Given the description of an element on the screen output the (x, y) to click on. 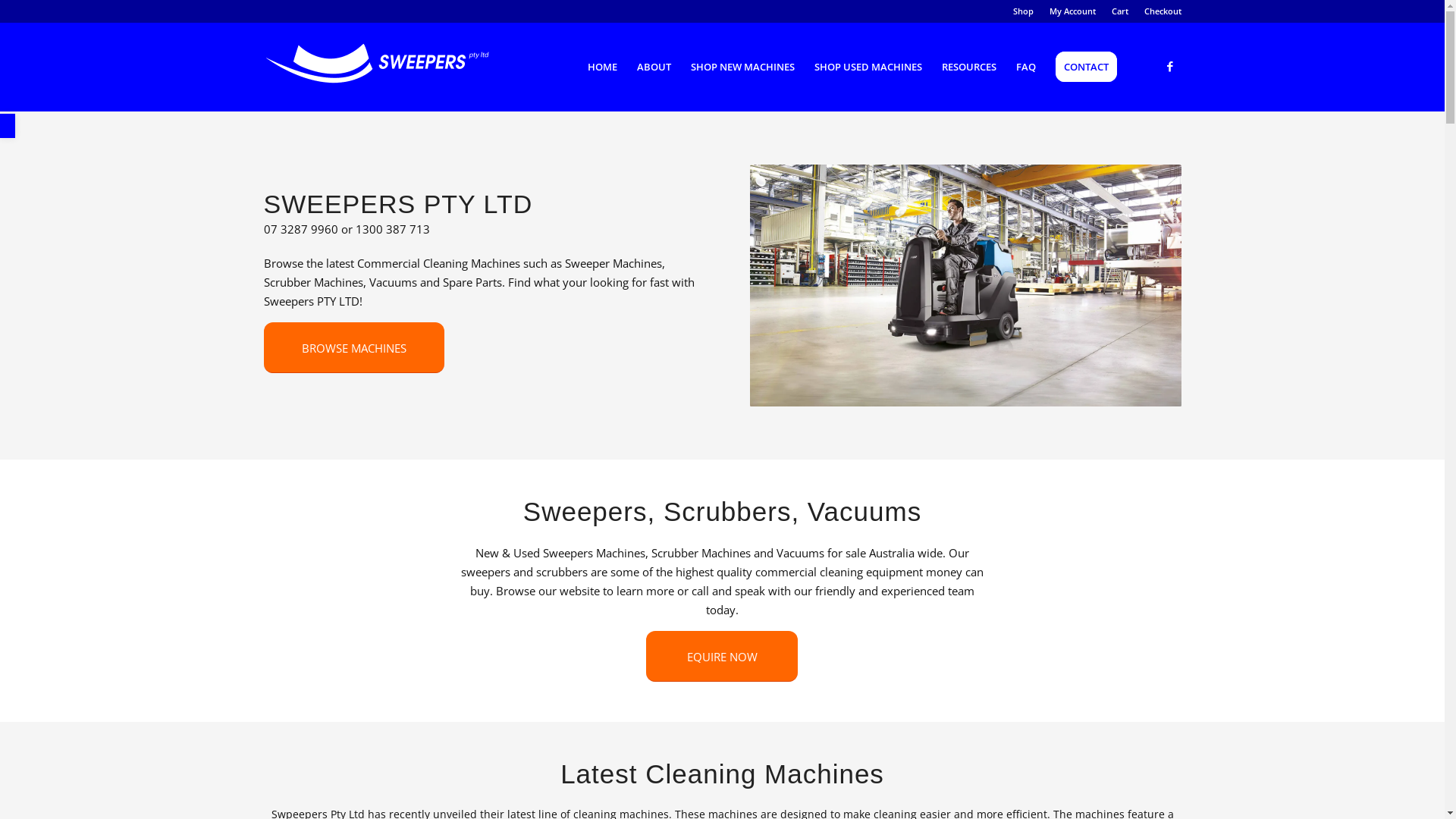
My Account Element type: text (1072, 10)
FAQ Element type: text (1024, 66)
ABOUT Element type: text (653, 66)
Sweepers Logo Web 1 Element type: hover (377, 63)
SHOP USED MACHINES Element type: text (867, 66)
CONTACT Element type: text (1085, 66)
RESOURCES Element type: text (968, 66)
HOME Element type: text (602, 66)
BROWSE MACHINES Element type: text (353, 347)
Checkout Element type: text (1161, 10)
Facebook Element type: hover (1169, 65)
EQUIRE NOW Element type: text (721, 655)
Cart Element type: text (1119, 10)
Open toolbar
Accessibility Tools Element type: text (7, 125)
Shop Element type: text (1023, 10)
SHOP NEW MACHINES Element type: text (742, 66)
